Given the description of an element on the screen output the (x, y) to click on. 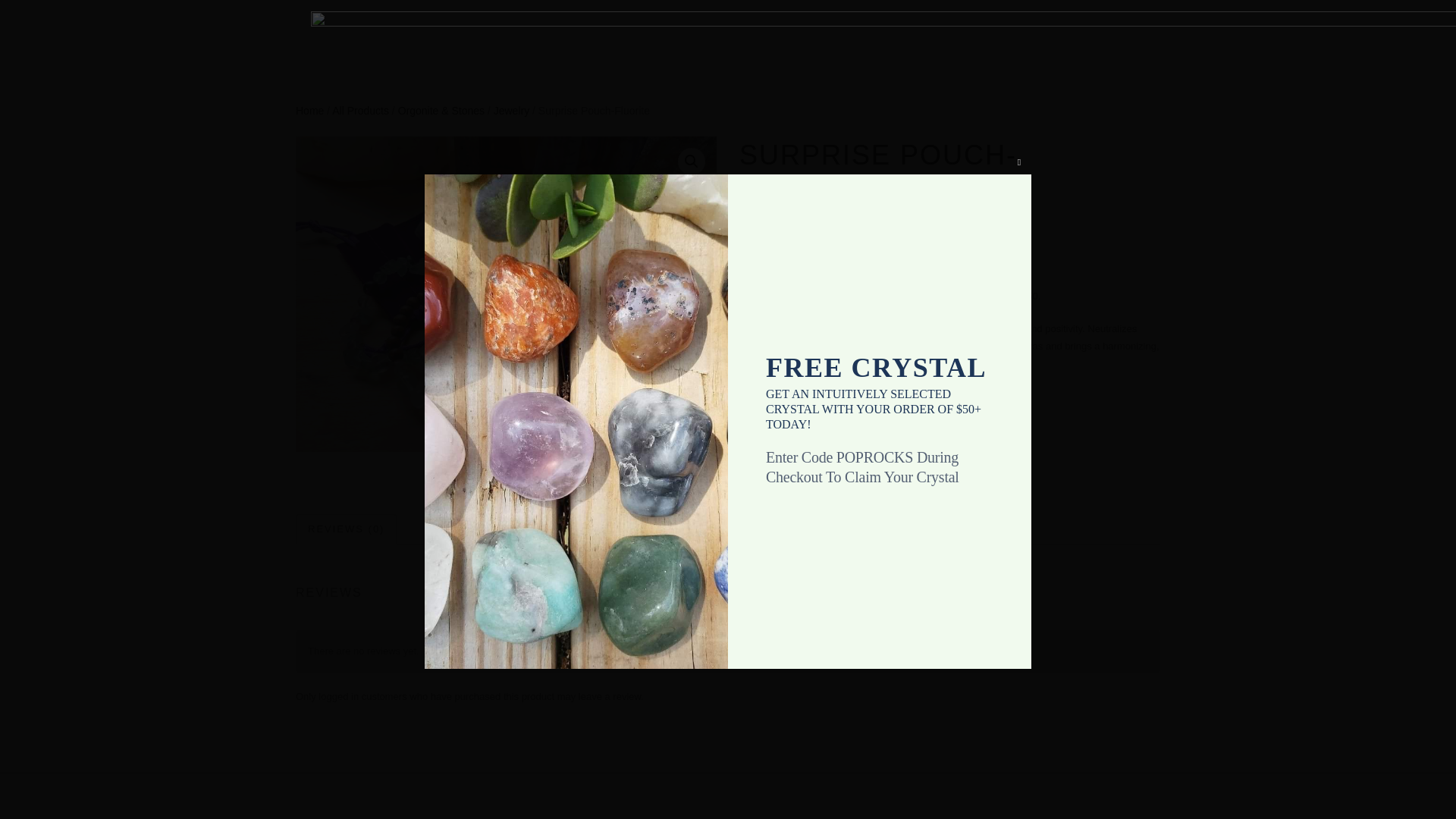
Jewelry (511, 110)
All Products (359, 110)
Jewelry (808, 432)
Home (309, 110)
Orgonite (848, 432)
